Given the description of an element on the screen output the (x, y) to click on. 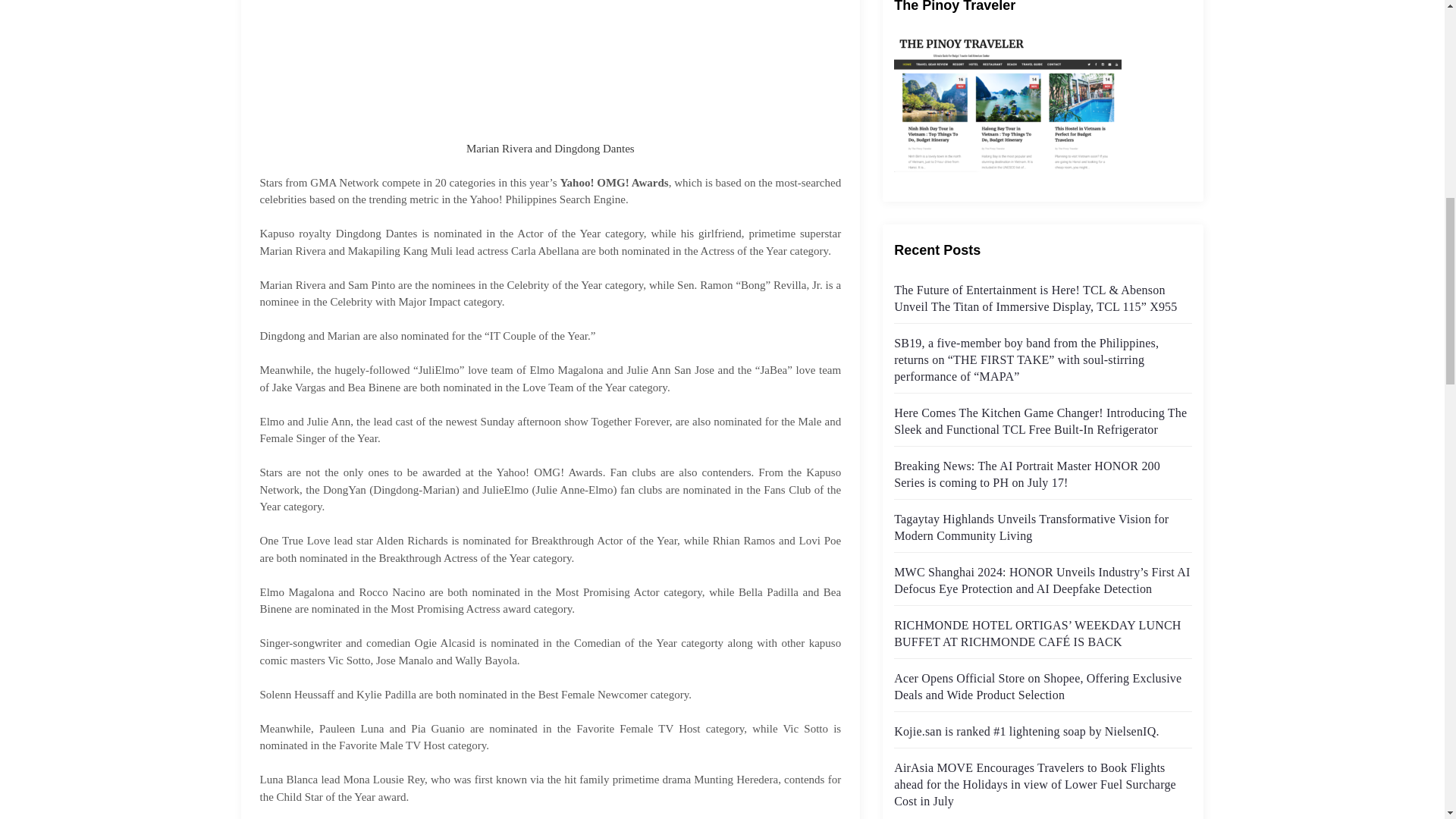
mariandingdong-kapuso-gma 7 (549, 65)
